Given the description of an element on the screen output the (x, y) to click on. 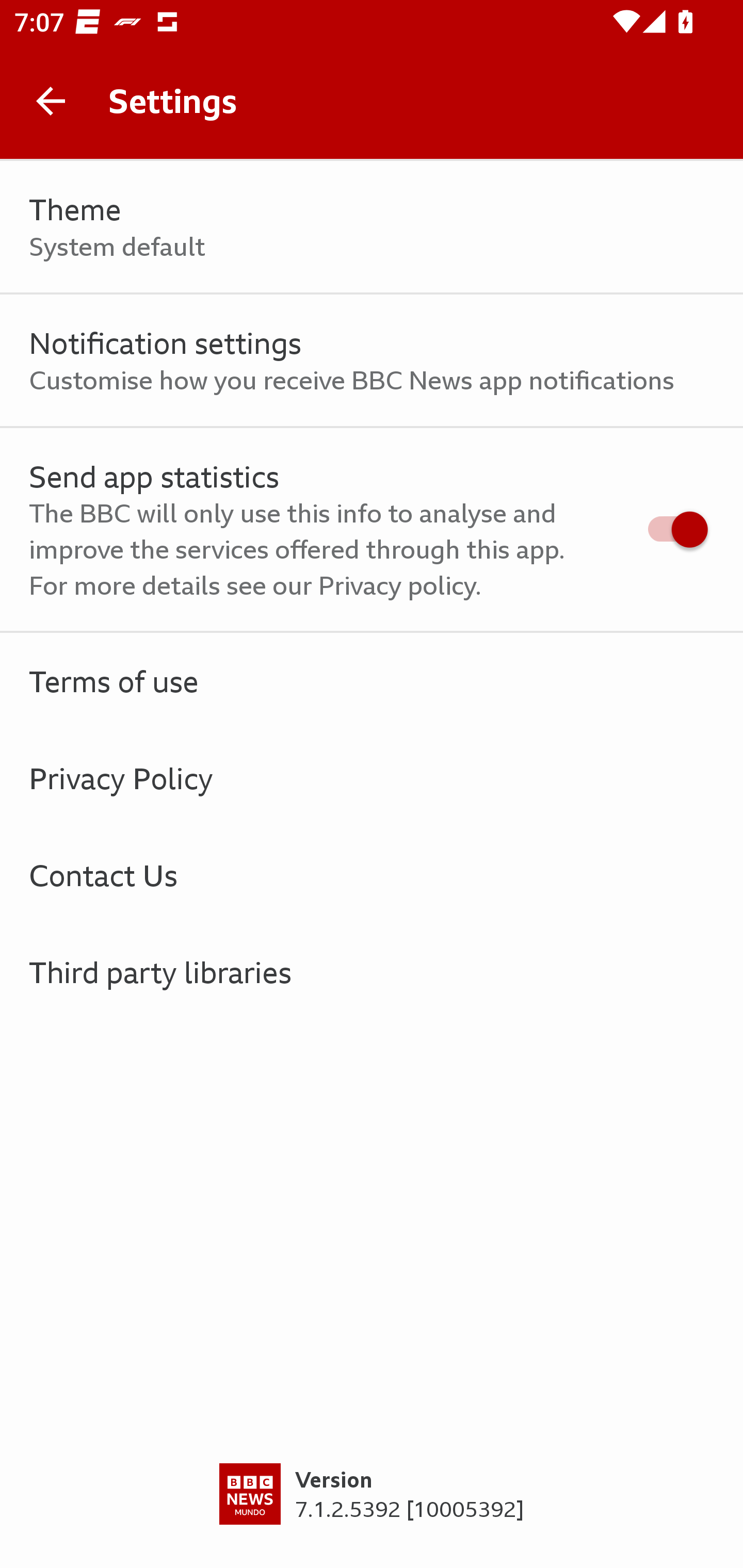
Back (50, 101)
Theme System default (371, 227)
Terms of use (371, 681)
Privacy Policy (371, 777)
Contact Us (371, 874)
Third party libraries (371, 971)
Version 7.1.2.5392 [10005392] (371, 1515)
